Given the description of an element on the screen output the (x, y) to click on. 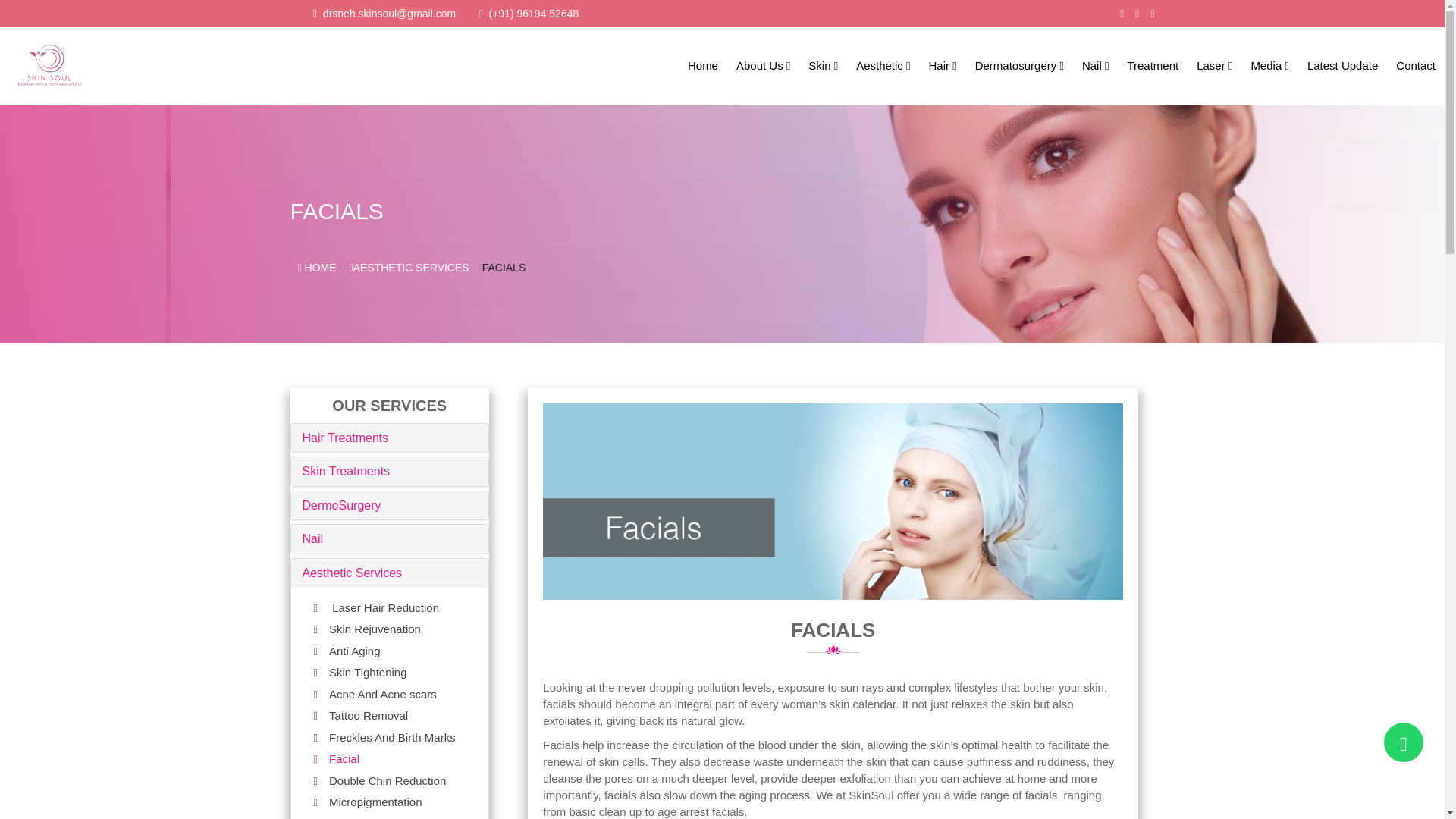
About Us (762, 66)
Aesthetic (882, 66)
